Given the description of an element on the screen output the (x, y) to click on. 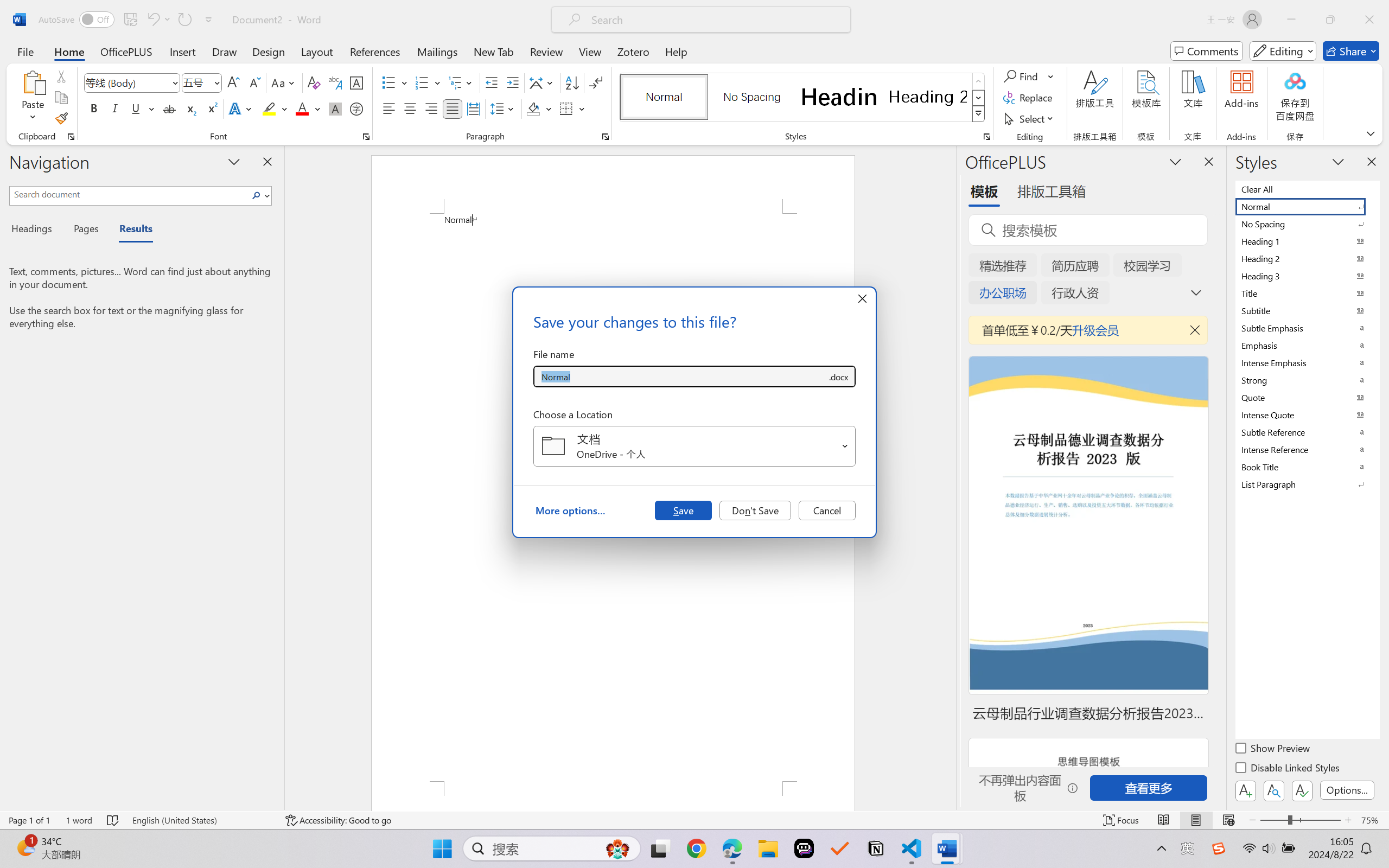
AutomationID: BadgeAnchorLargeTicker (24, 847)
Word Count 1 word (78, 819)
Heading 2 (927, 96)
Subtle Emphasis (1306, 327)
Borders (566, 108)
Select (1030, 118)
Accessibility Checker Accessibility: Good to go (338, 819)
Zoom In (1348, 819)
Choose a Location (694, 446)
Class: NetUIButton (1301, 790)
Align Right (431, 108)
Font (132, 82)
Underline (135, 108)
